Given the description of an element on the screen output the (x, y) to click on. 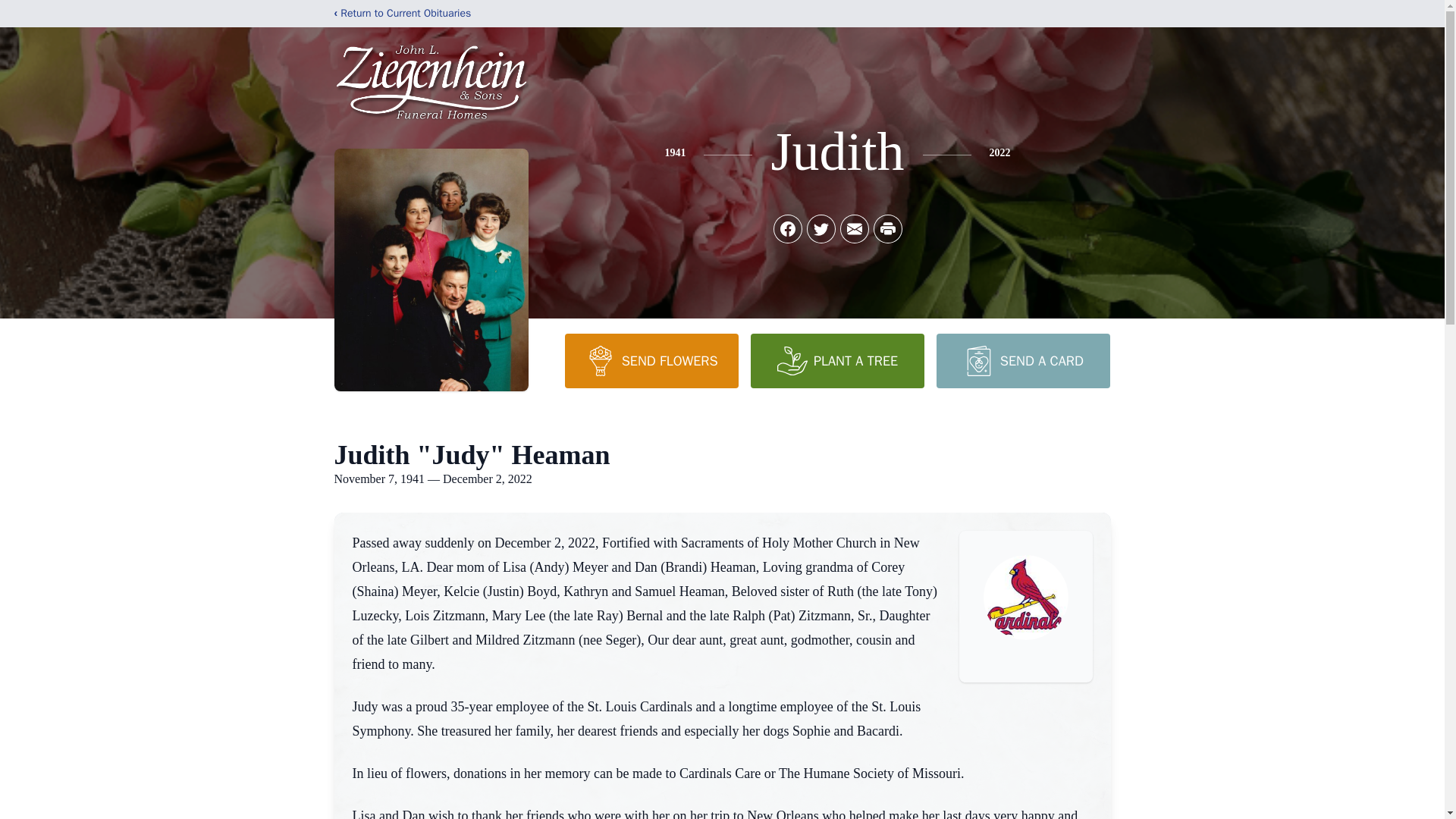
PLANT A TREE (837, 360)
SEND FLOWERS (651, 360)
SEND A CARD (1022, 360)
